Given the description of an element on the screen output the (x, y) to click on. 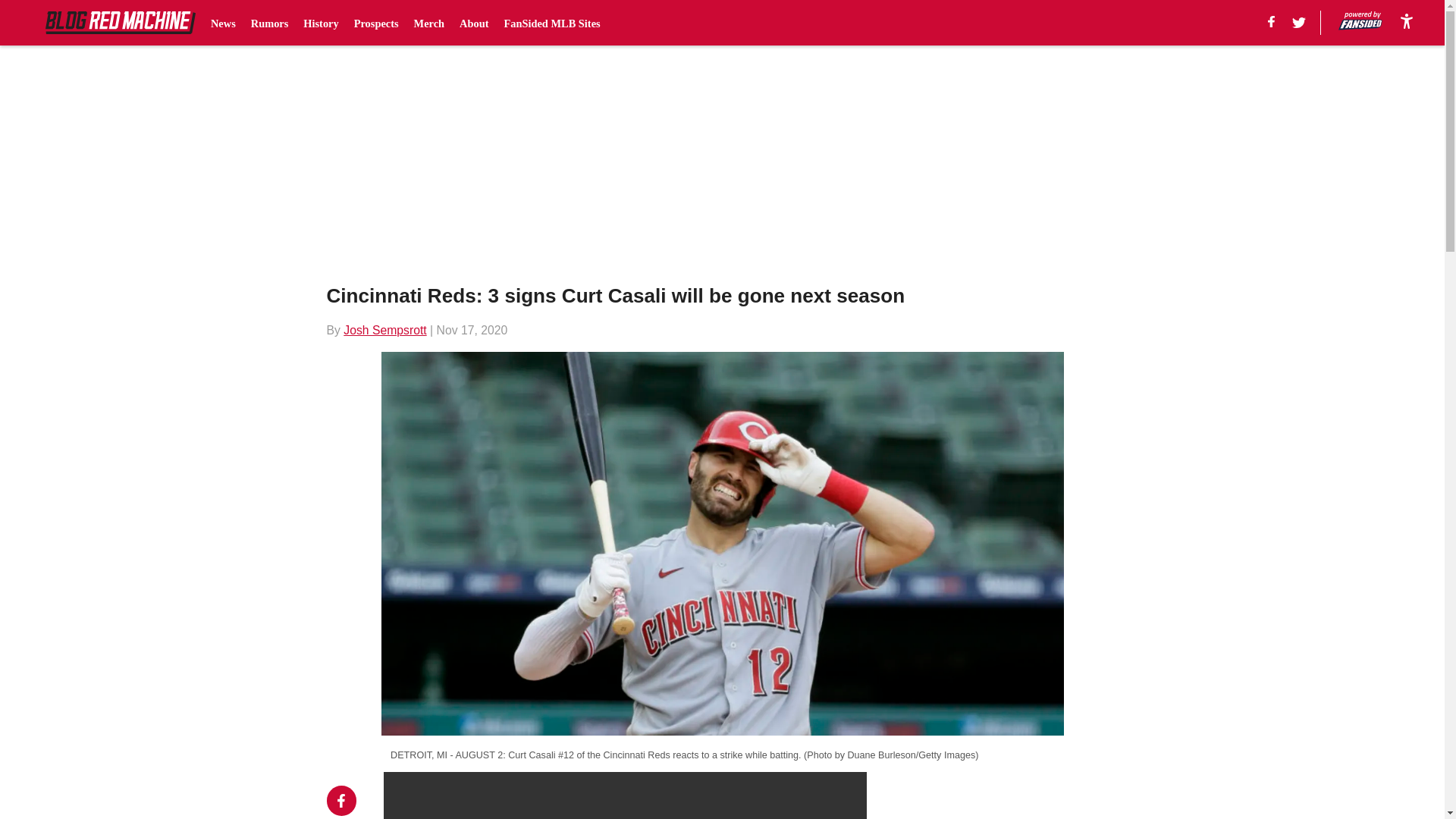
Josh Sempsrott (384, 329)
Merch (429, 23)
News (223, 23)
Prospects (375, 23)
FanSided MLB Sites (551, 23)
3rd party ad content (1005, 795)
History (319, 23)
Rumors (269, 23)
About (473, 23)
